Given the description of an element on the screen output the (x, y) to click on. 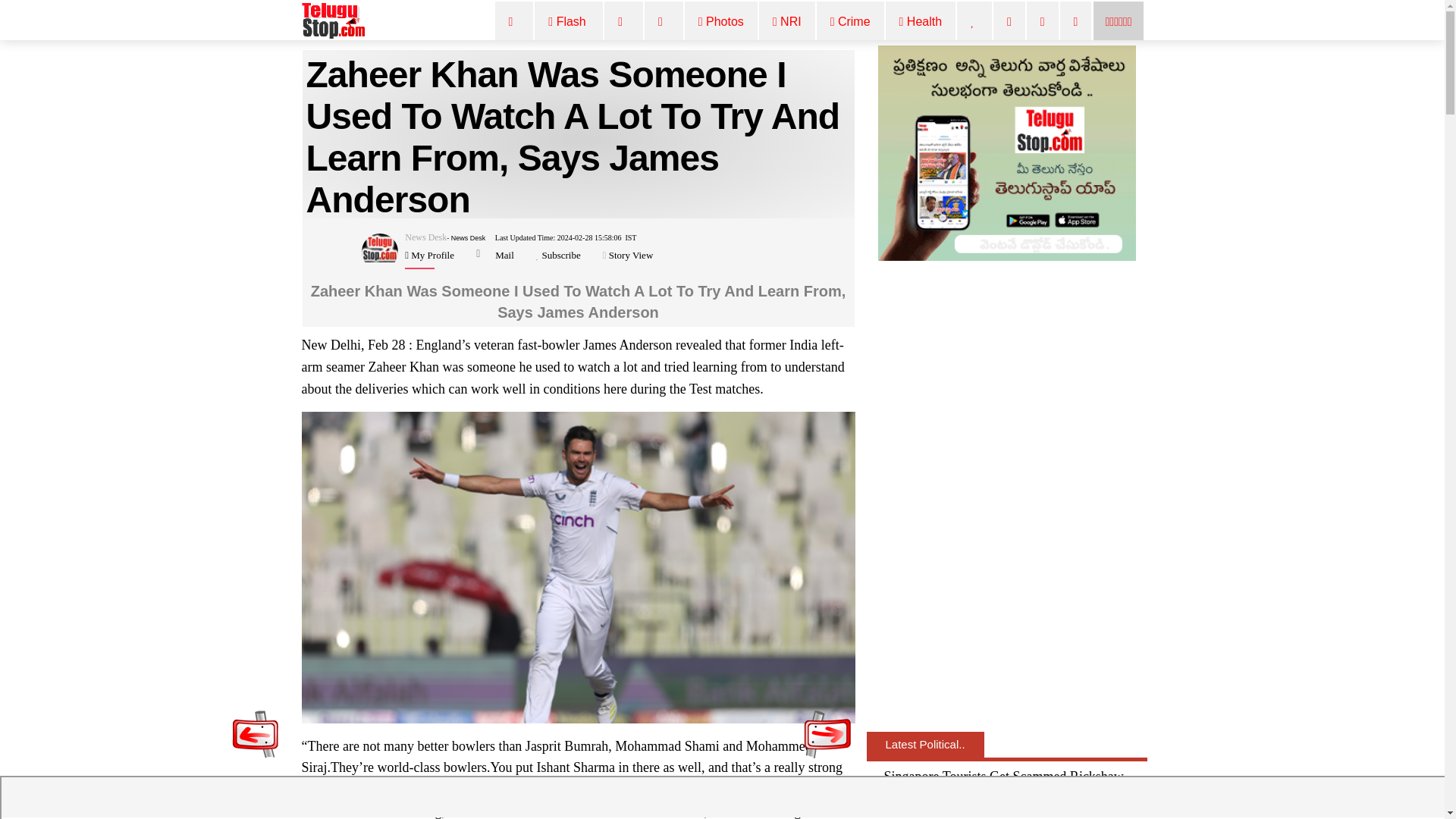
Bollywood Movie News (623, 22)
Latest Trending Top Story News (974, 22)
Political (664, 22)
Andhra Telangana Telugu Flash News.. (1117, 21)
Telugu Photo Galleries (721, 22)
 Crime (850, 22)
News Desk (425, 236)
Home (514, 22)
 My Profile (431, 255)
Latest Technology News (1042, 22)
 Photos (721, 22)
Latest Business News. (1009, 22)
 Flash  (569, 22)
